Given the description of an element on the screen output the (x, y) to click on. 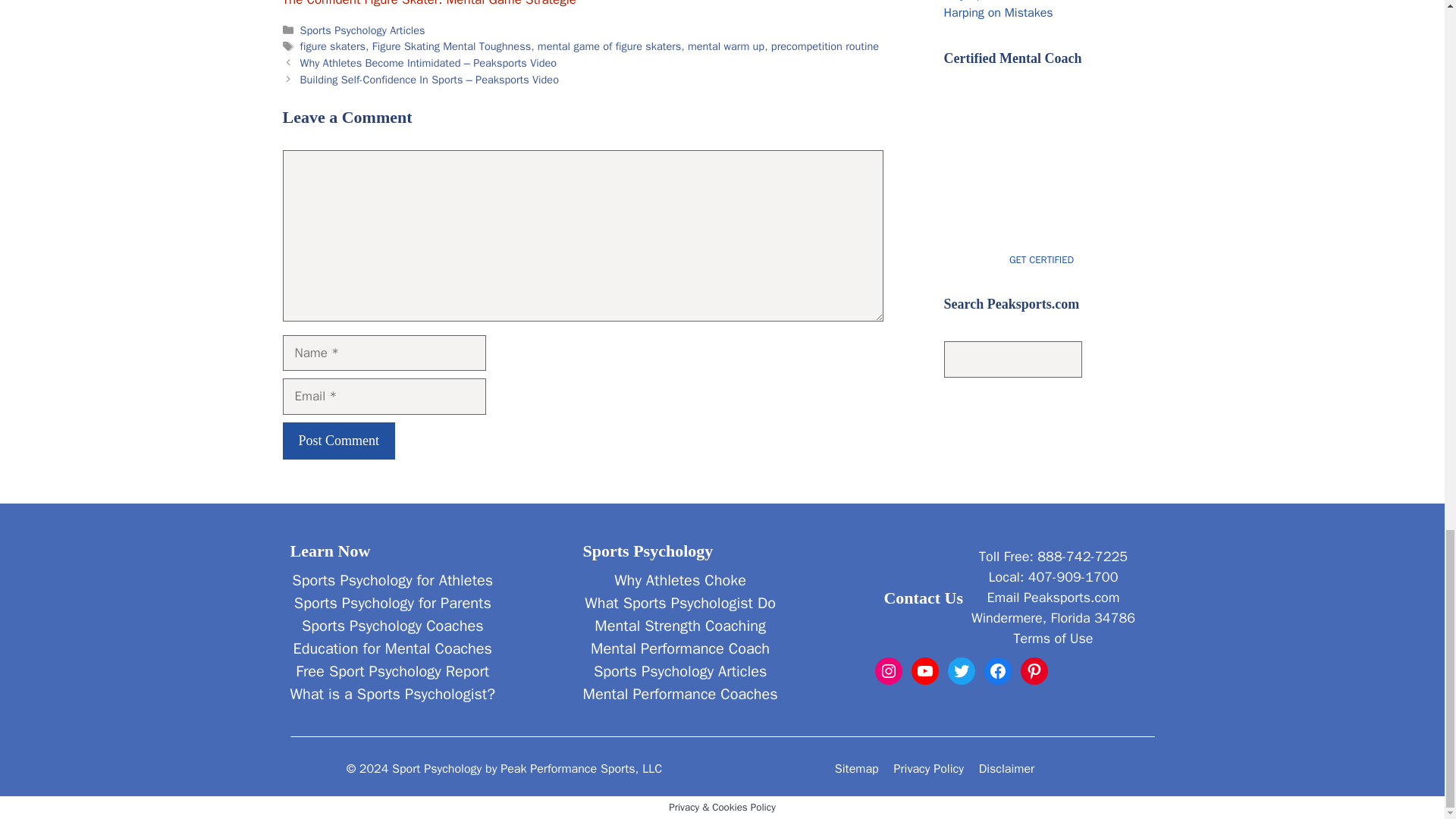
The Confident Figure Skater: Mental Game Strategie (428, 3)
Sports Psychology Articles (362, 29)
Post Comment (338, 440)
Scroll back to top (1406, 12)
